Given the description of an element on the screen output the (x, y) to click on. 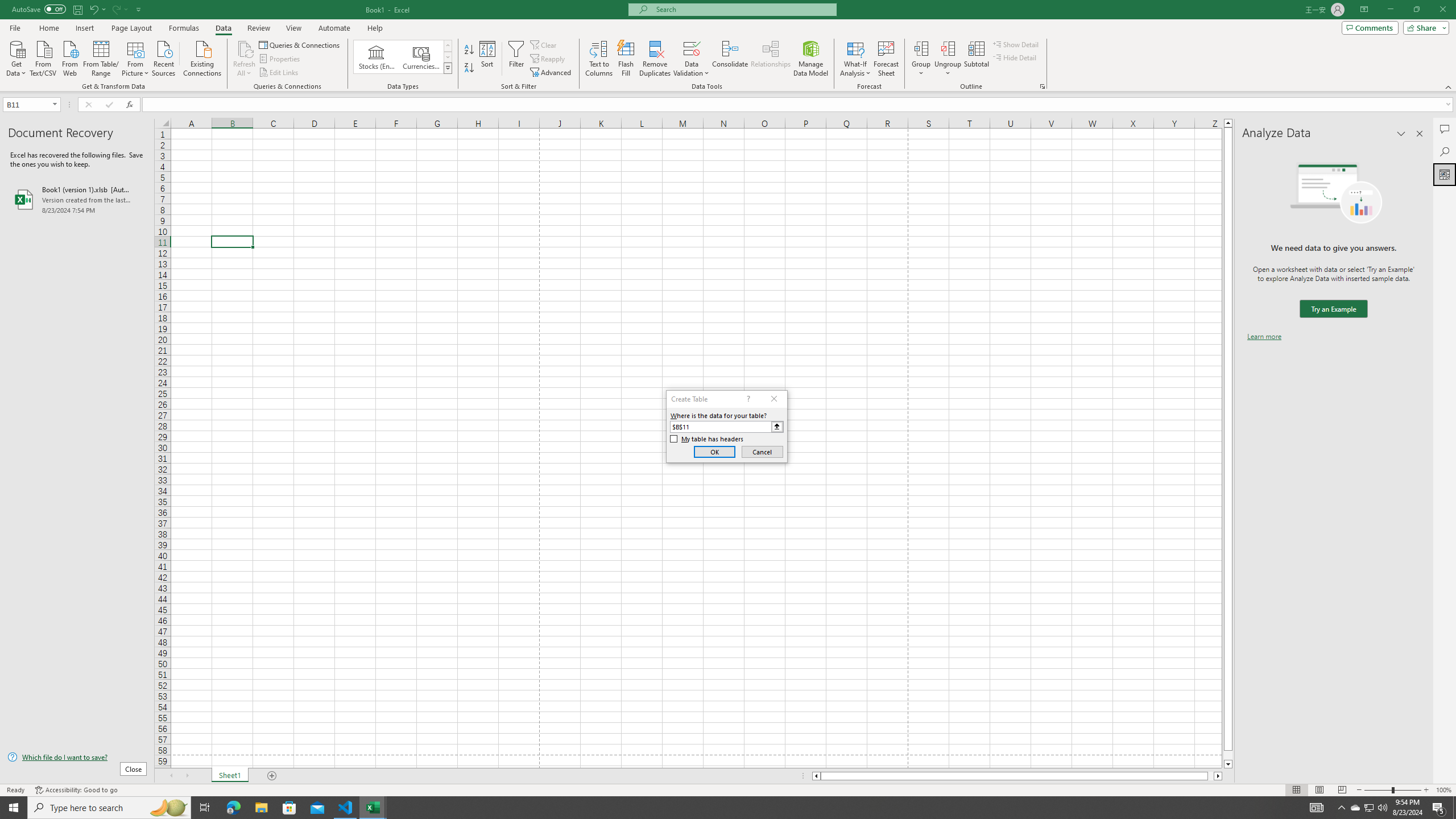
Flash Fill (625, 58)
Queries & Connections (300, 44)
Relationships (770, 58)
